Given the description of an element on the screen output the (x, y) to click on. 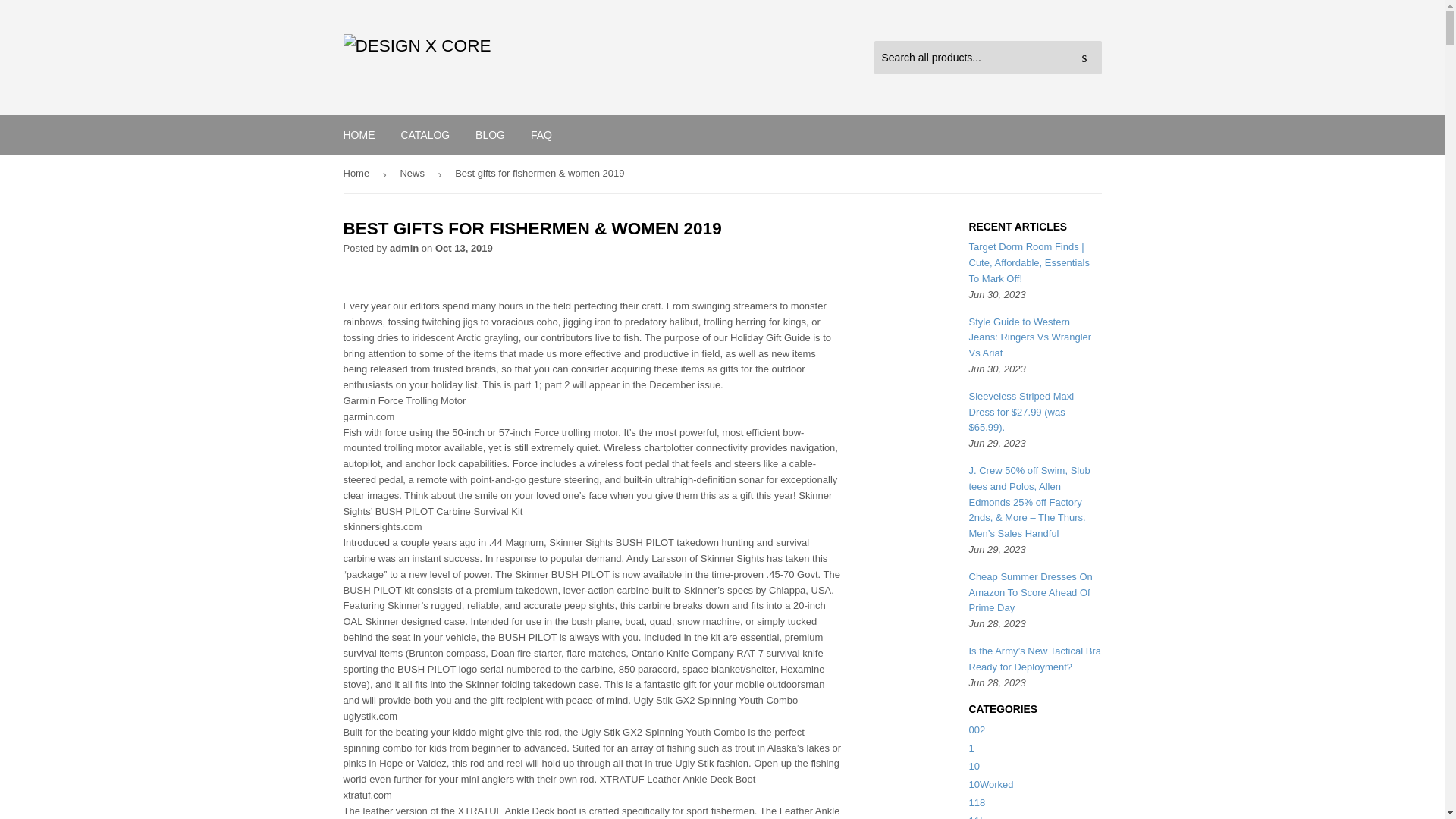
Cheap Summer Dresses On Amazon To Score Ahead Of Prime Day (1031, 592)
002 (977, 729)
Show articles tagged 002 (977, 729)
11I (975, 816)
Show articles tagged 118 (977, 802)
Show articles tagged 10 (974, 766)
Style Guide to Western Jeans: Ringers Vs Wrangler Vs Ariat (1030, 337)
10 (974, 766)
HOME (359, 134)
CATALOG (424, 134)
